Given the description of an element on the screen output the (x, y) to click on. 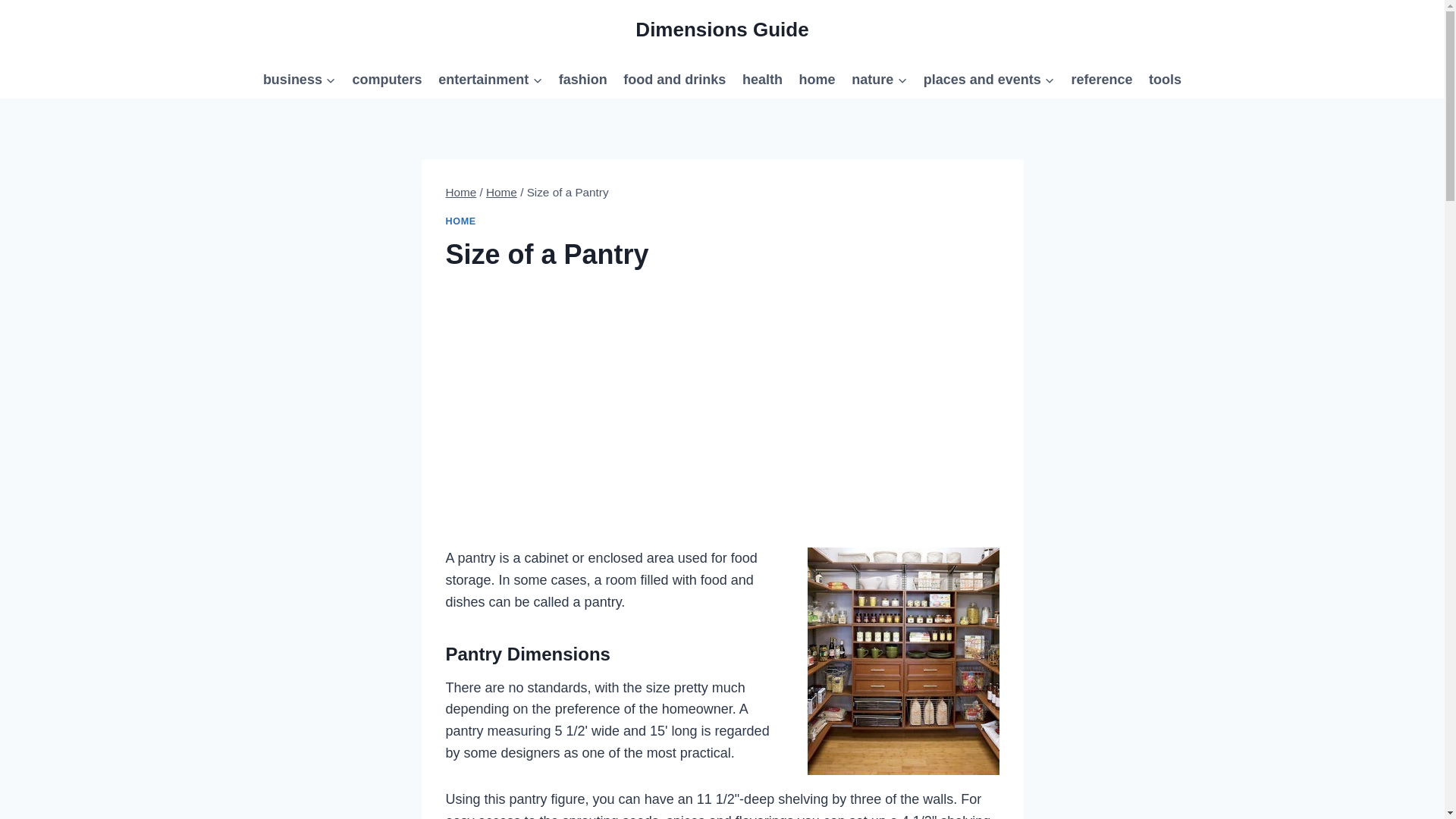
food and drinks (675, 79)
nature (879, 79)
fashion (582, 79)
business (298, 79)
Dimensions Guide (721, 29)
Advertisement (721, 439)
tools (1164, 79)
places and events (988, 79)
home (817, 79)
computers (386, 79)
